Given the description of an element on the screen output the (x, y) to click on. 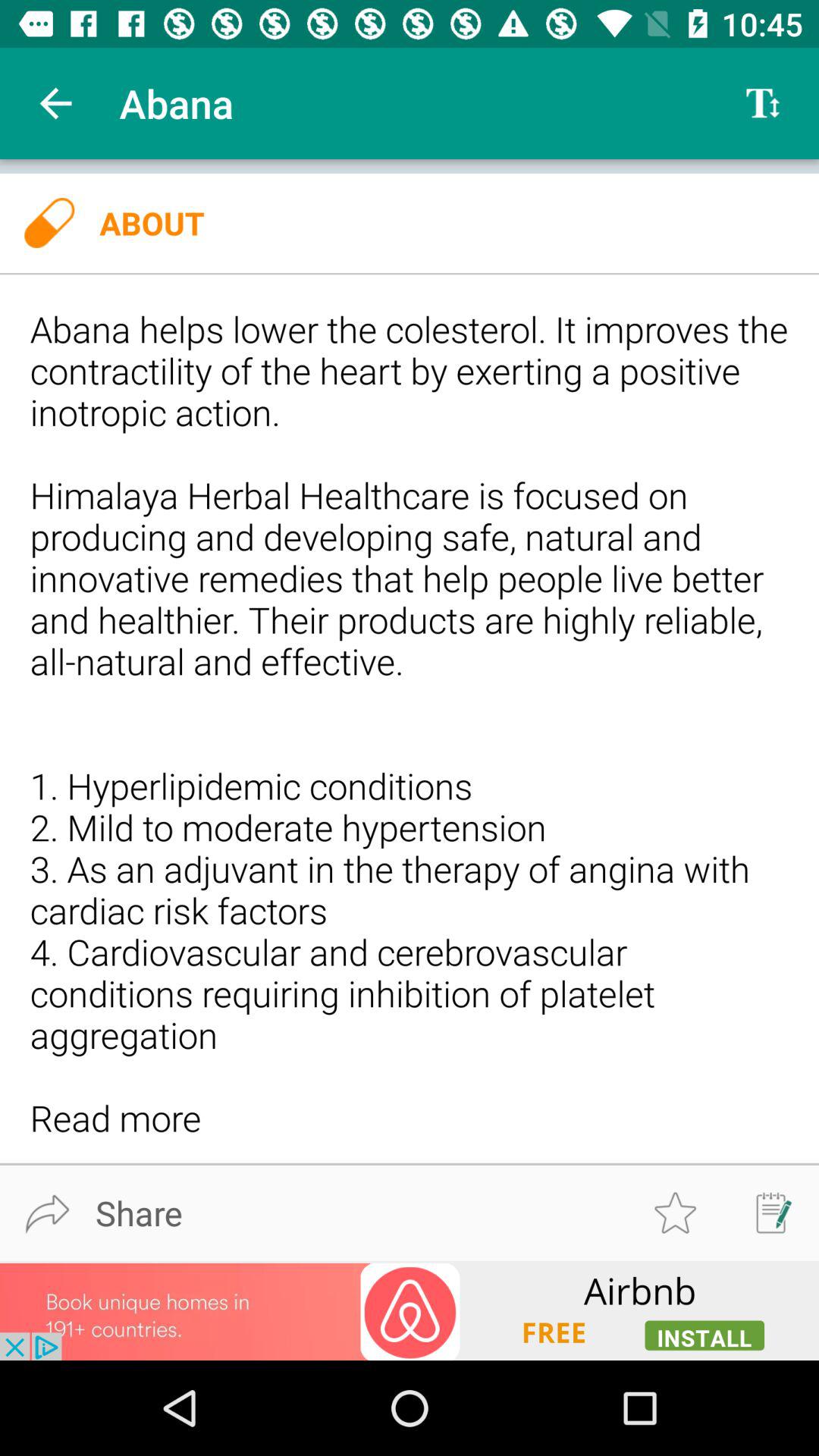
advertisement area (409, 1310)
